Given the description of an element on the screen output the (x, y) to click on. 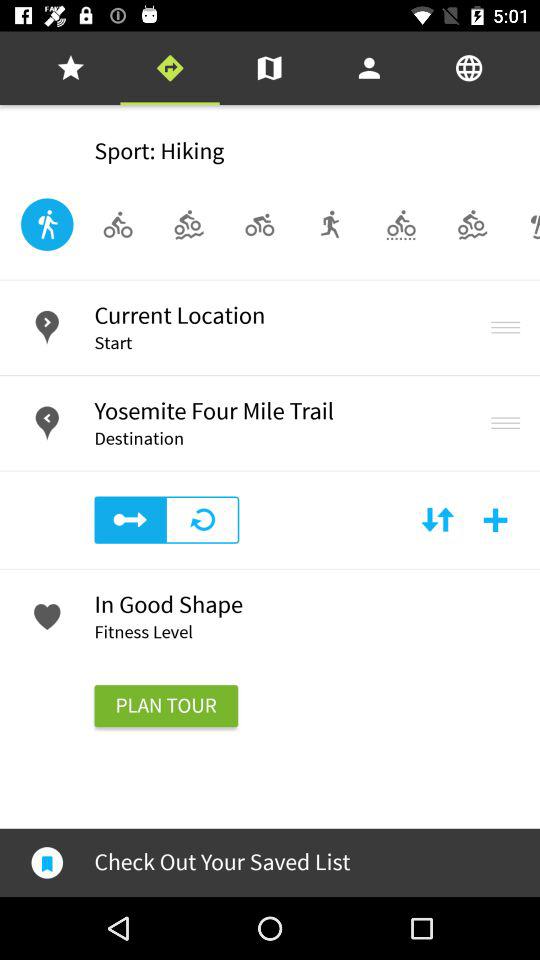
open plan tour (166, 706)
